Given the description of an element on the screen output the (x, y) to click on. 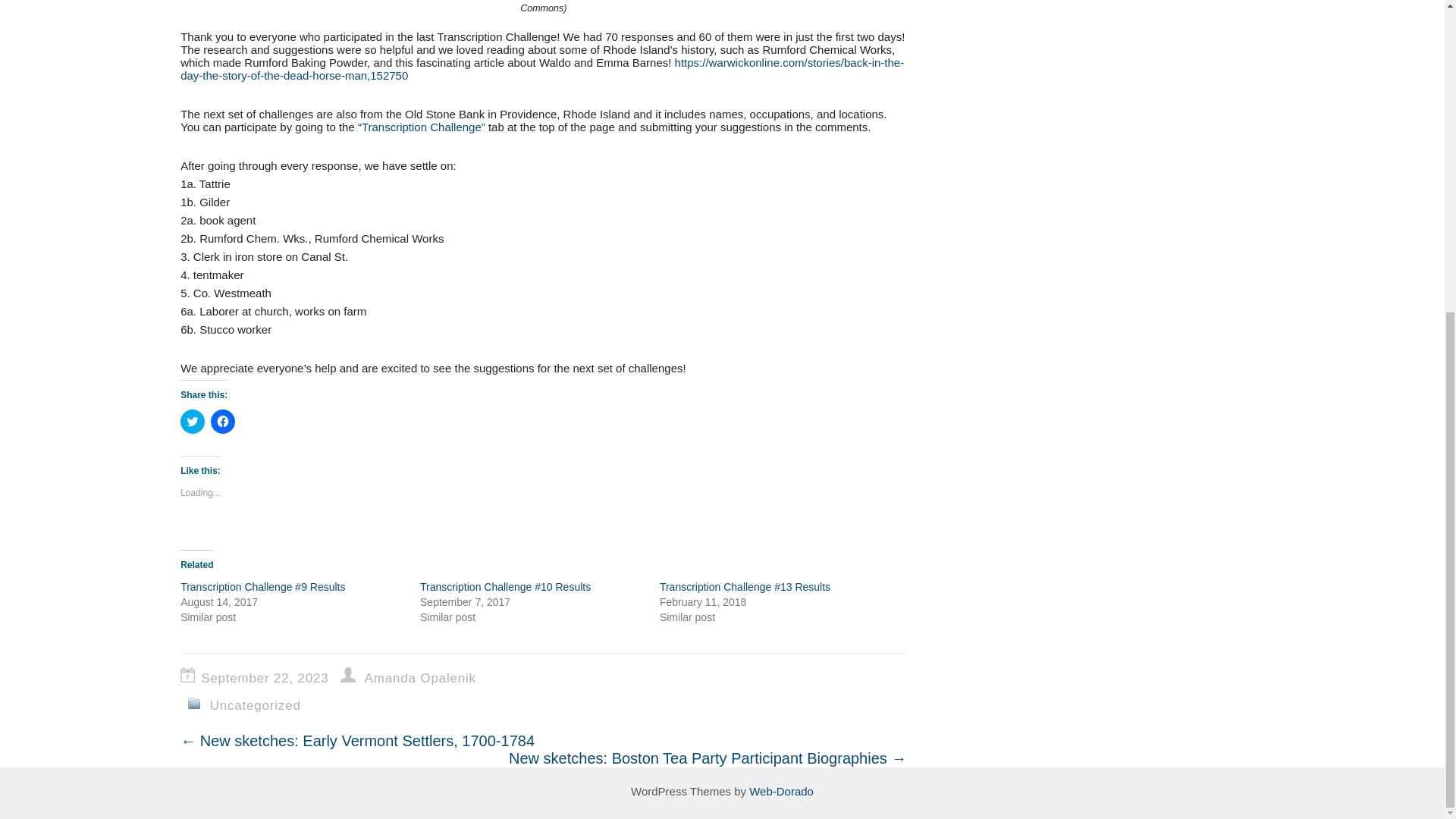
Click to share on Facebook (222, 421)
Click to share on Twitter (192, 421)
2:57 pm (268, 677)
View all posts by Amanda Opalenik (420, 677)
Amanda Opalenik (420, 677)
September 22, 2023 (268, 677)
Uncategorized (255, 705)
